Given the description of an element on the screen output the (x, y) to click on. 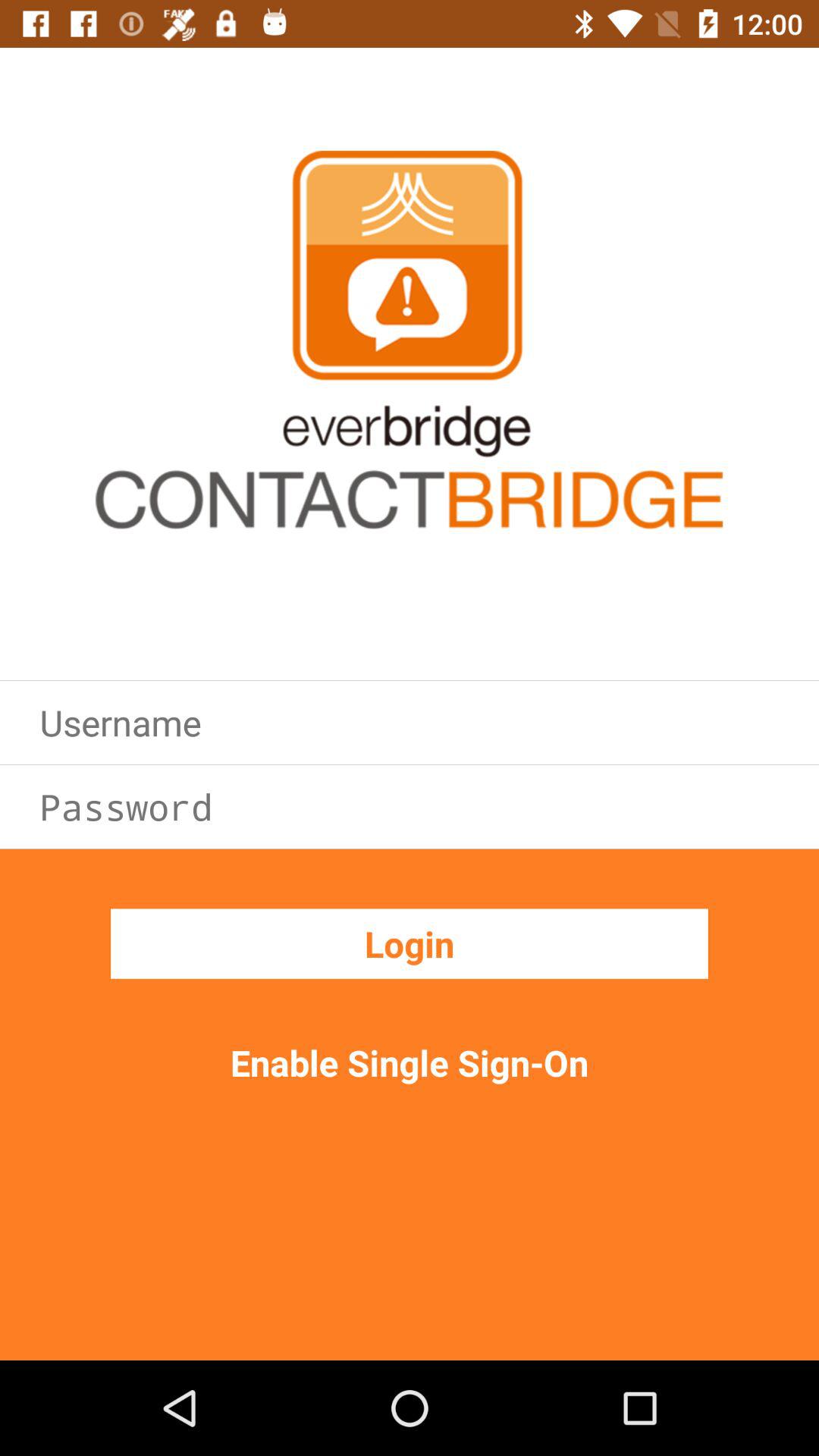
launch item below the login (409, 1062)
